Given the description of an element on the screen output the (x, y) to click on. 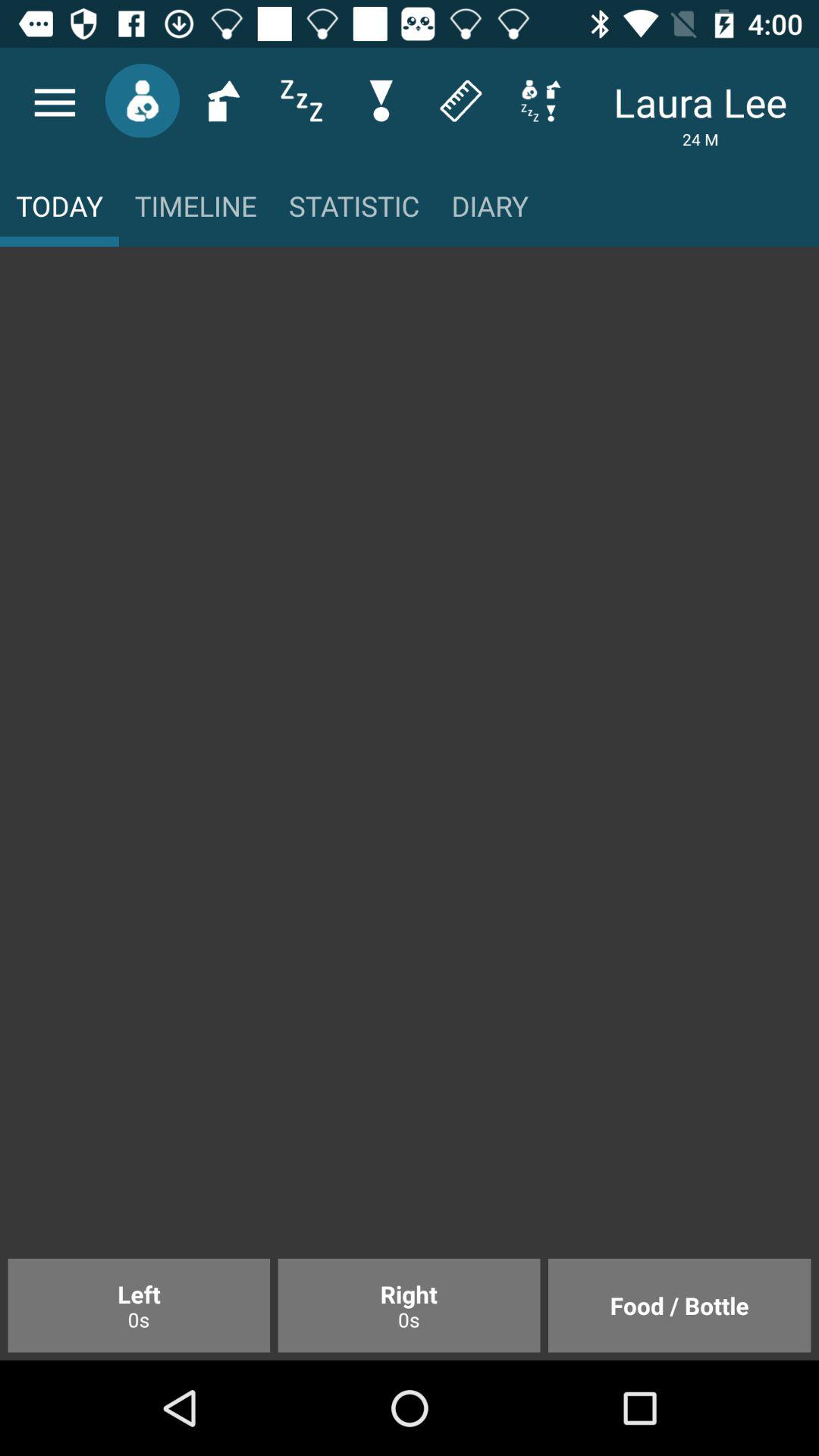
turn on the item at the bottom left corner (138, 1305)
